Given the description of an element on the screen output the (x, y) to click on. 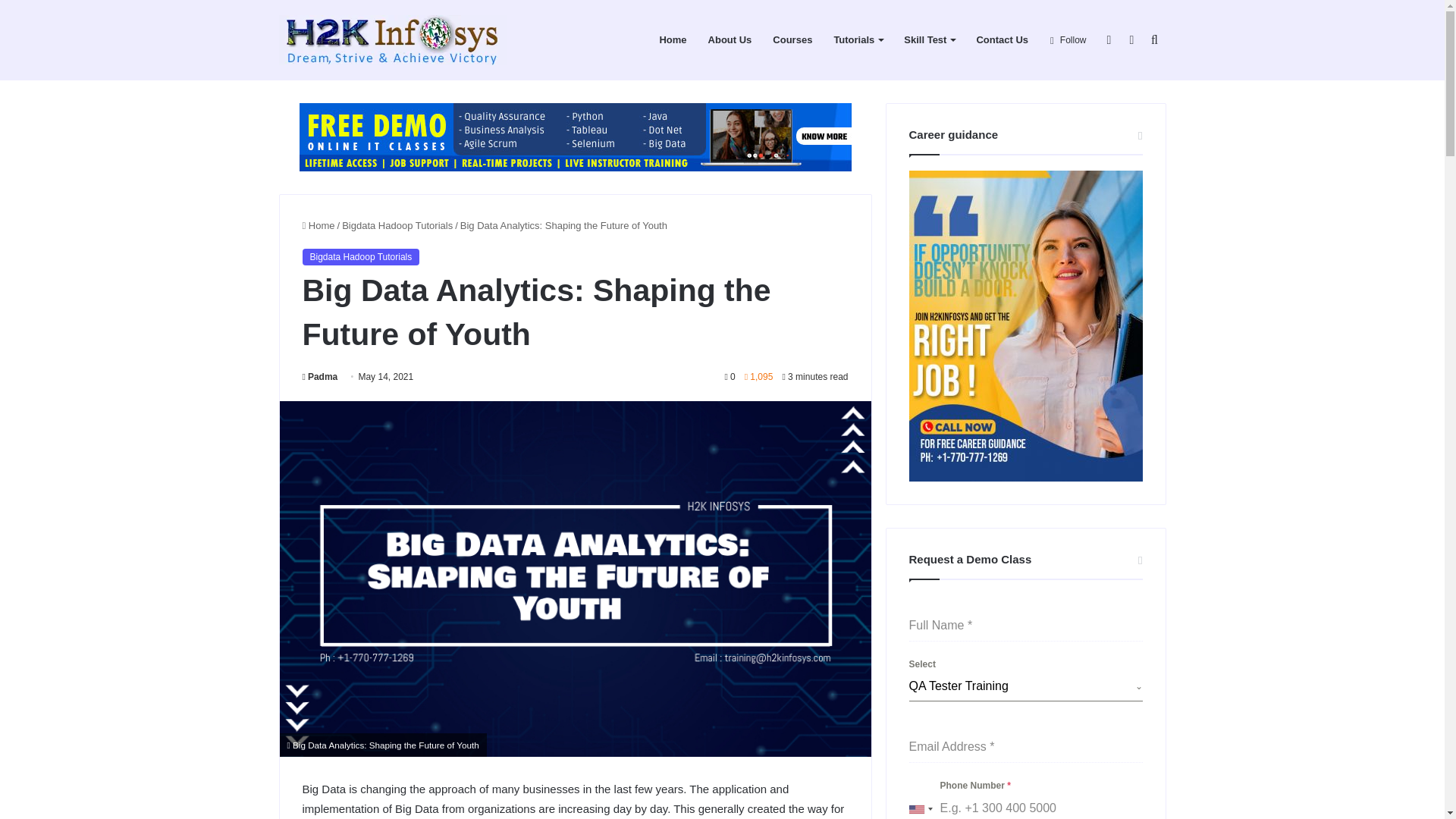
Home (317, 225)
Padma (319, 376)
Bigdata Hadoop Tutorials (397, 225)
Bigdata Hadoop Tutorials (360, 256)
Courses (791, 40)
About Us (729, 40)
Padma (319, 376)
Log In (1109, 40)
Sidebar (1131, 40)
Tutorials (857, 40)
Follow (1068, 40)
Home (672, 40)
Skill Test (929, 40)
Contact Us (1002, 40)
